Given the description of an element on the screen output the (x, y) to click on. 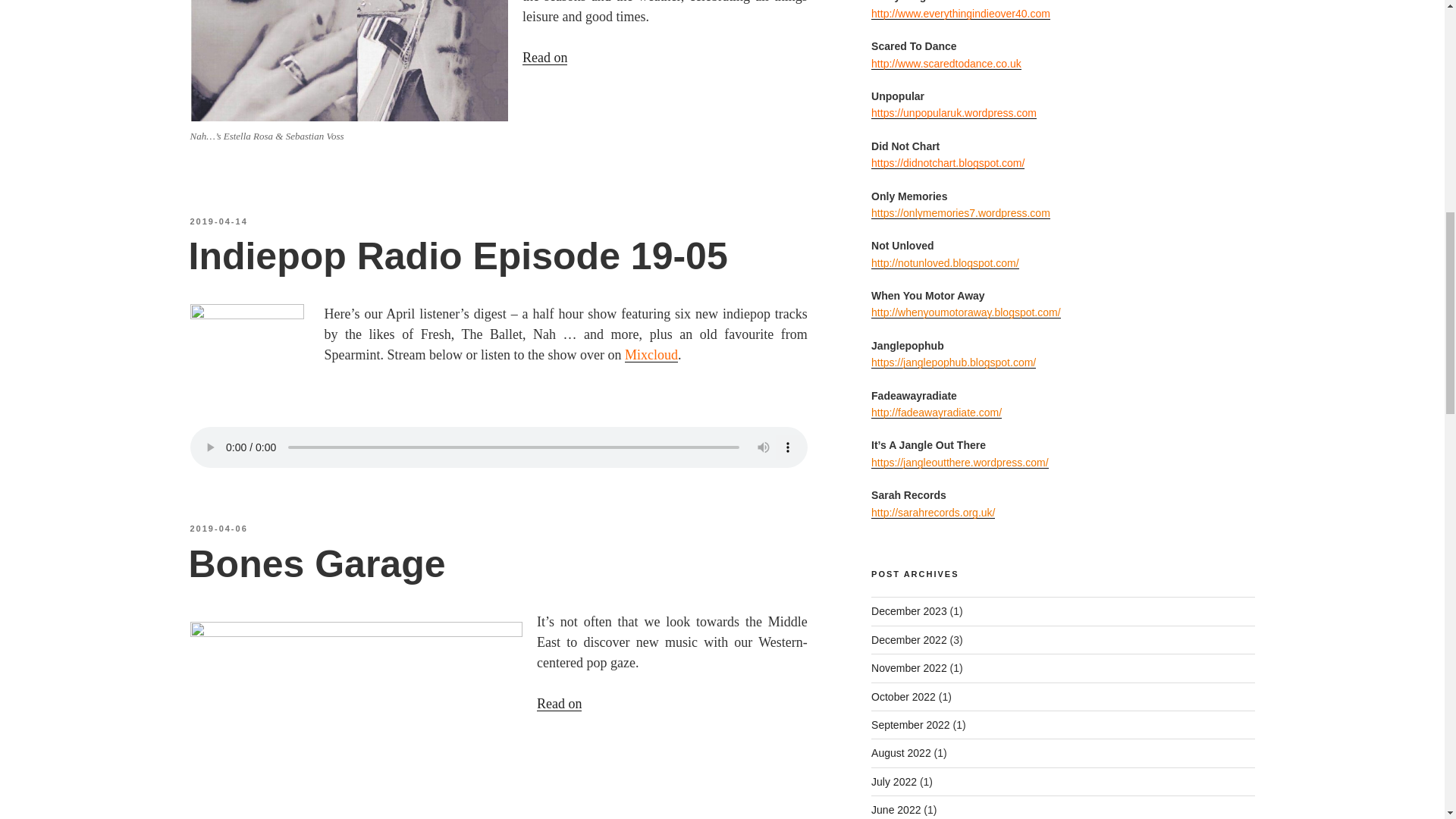
Bones Garage (316, 563)
Read on (831, 77)
Read on (845, 724)
2019-04-06 (218, 528)
2019-04-14 (218, 221)
Mixcloud (651, 354)
Indiepop Radio Episode 19-05 (456, 256)
